Given the description of an element on the screen output the (x, y) to click on. 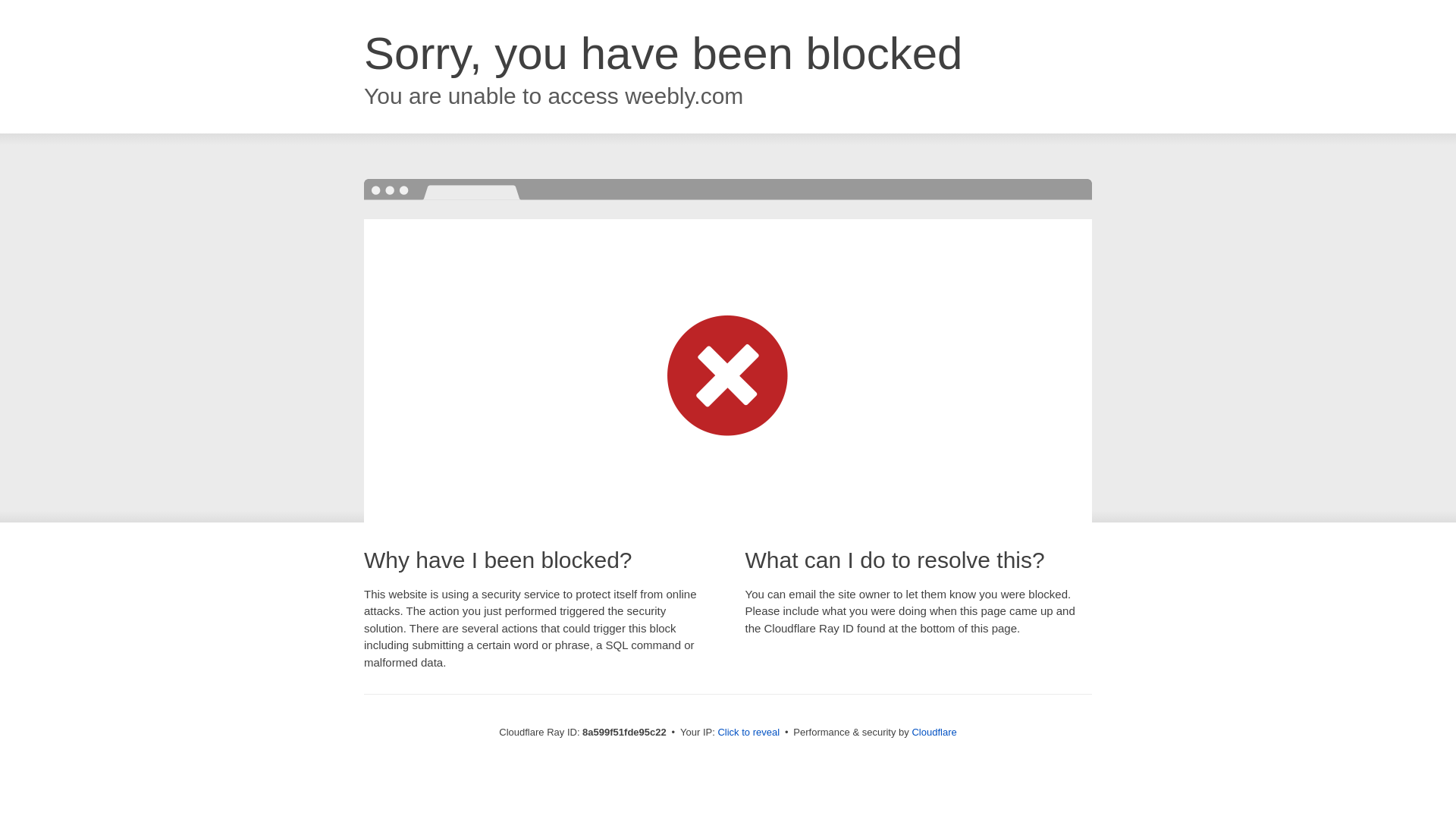
Click to reveal (747, 732)
Cloudflare (933, 731)
